Given the description of an element on the screen output the (x, y) to click on. 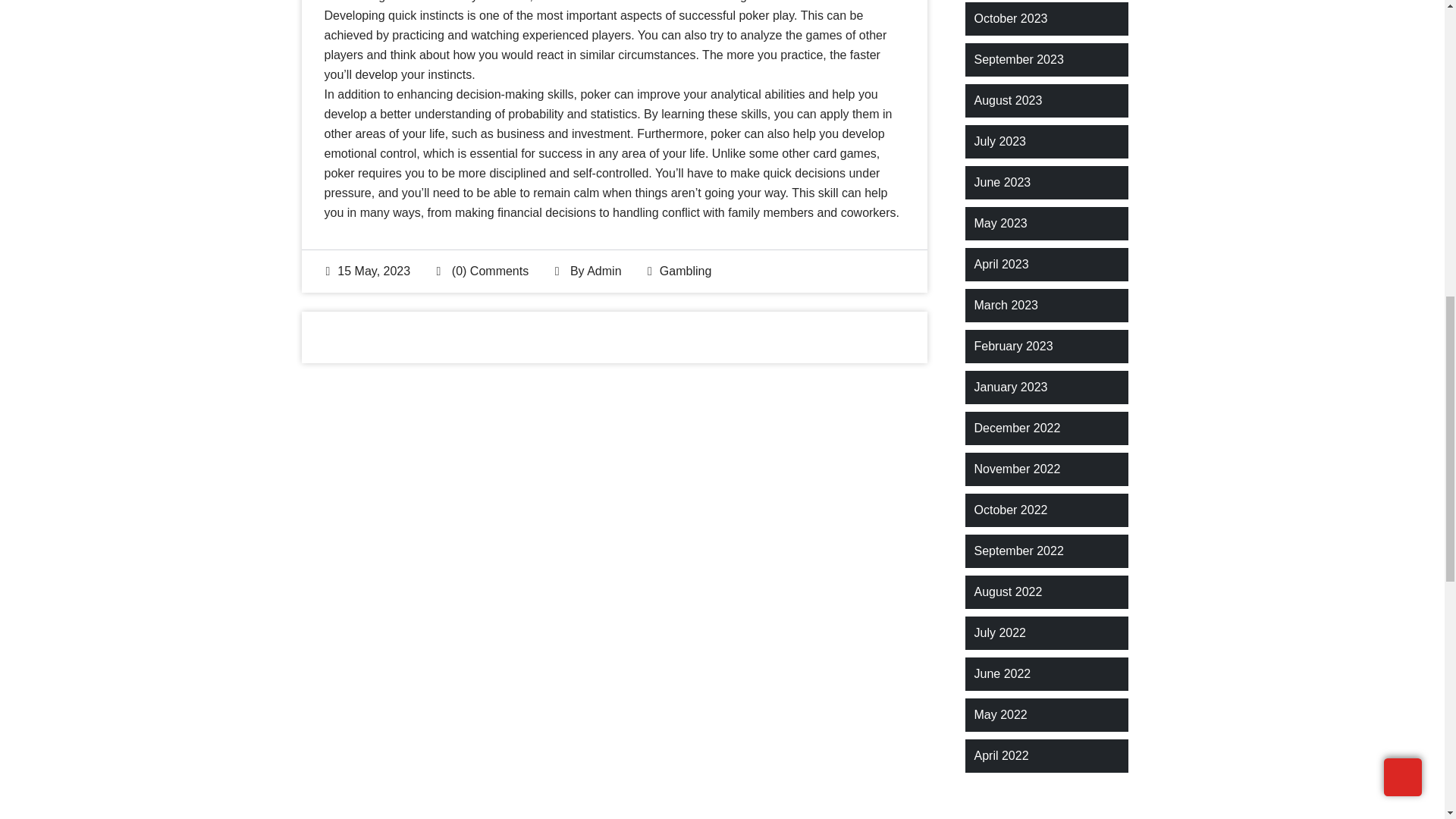
June 2023 (1002, 182)
March 2023 (1006, 305)
September 2023 (1018, 59)
October 2022 (1010, 510)
July 2022 (1000, 633)
June 2022 (1002, 674)
November 2022 (1016, 469)
July 2023 (1000, 141)
Admin (603, 270)
December 2022 (1016, 428)
Gambling (685, 270)
January 2023 (1010, 387)
April 2023 (1000, 264)
October 2023 (1010, 18)
August 2023 (1008, 100)
